Given the description of an element on the screen output the (x, y) to click on. 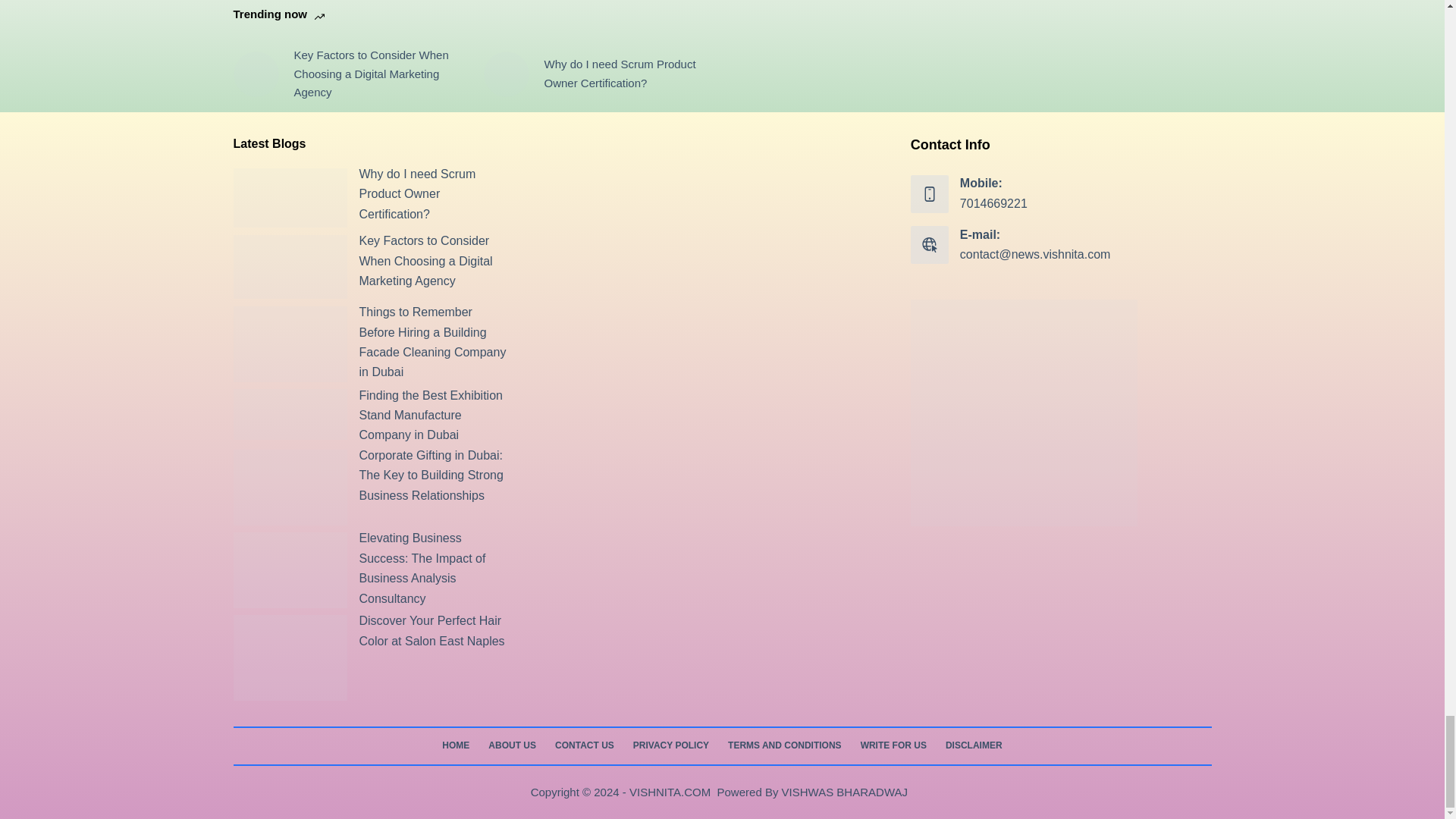
Why do I need Scrum Product Owner Certification? 9 (289, 198)
